Given the description of an element on the screen output the (x, y) to click on. 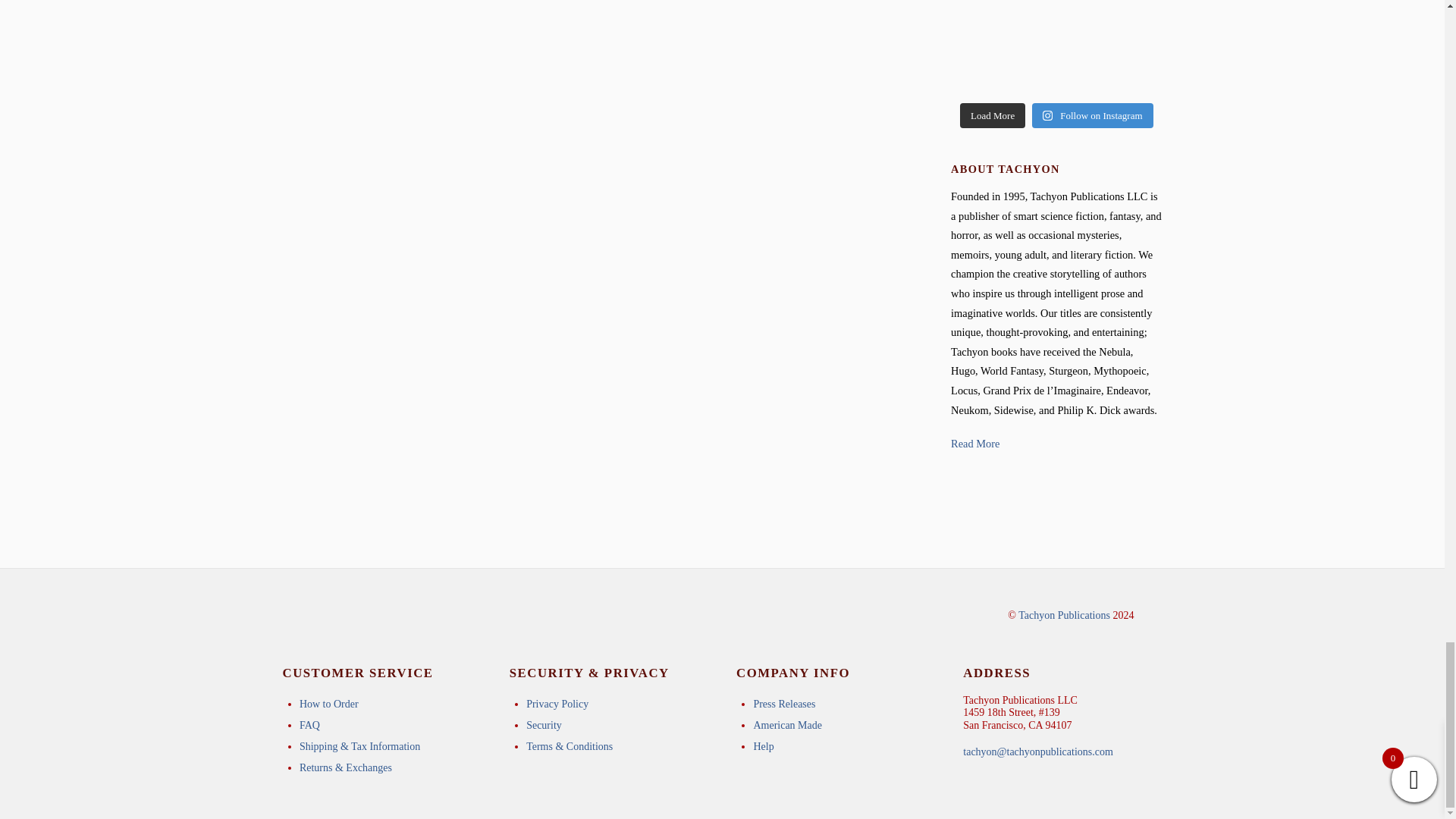
Security (543, 725)
How to Order (328, 704)
Privacy Policy (556, 704)
Frequently Asked Questions (309, 725)
Press Releases (783, 704)
